Given the description of an element on the screen output the (x, y) to click on. 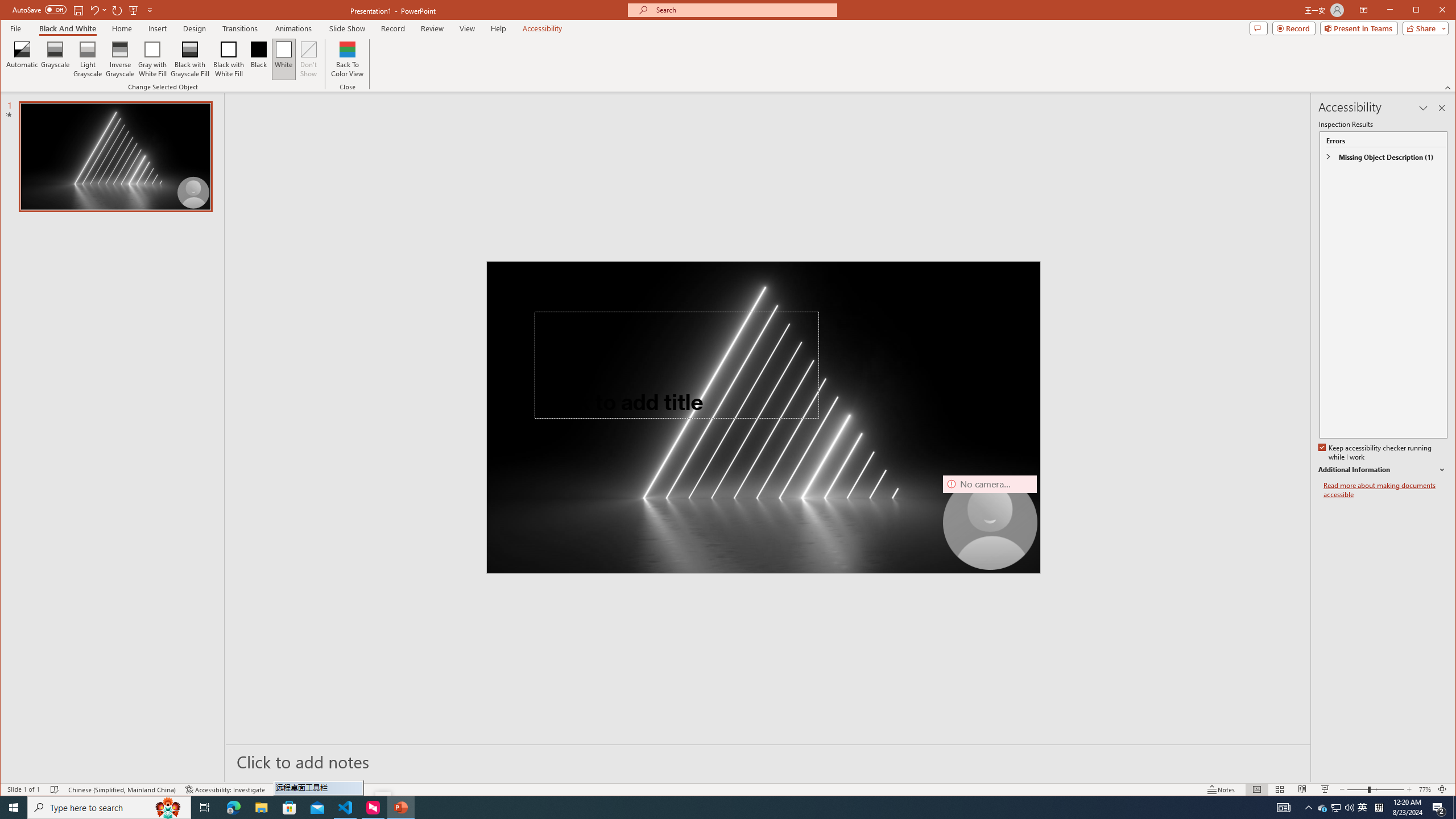
Black with White Fill (229, 59)
Don't Show (308, 59)
Grayscale (55, 59)
Running applications (700, 807)
Neon laser lights aligned to form a triangle (762, 417)
